Given the description of an element on the screen output the (x, y) to click on. 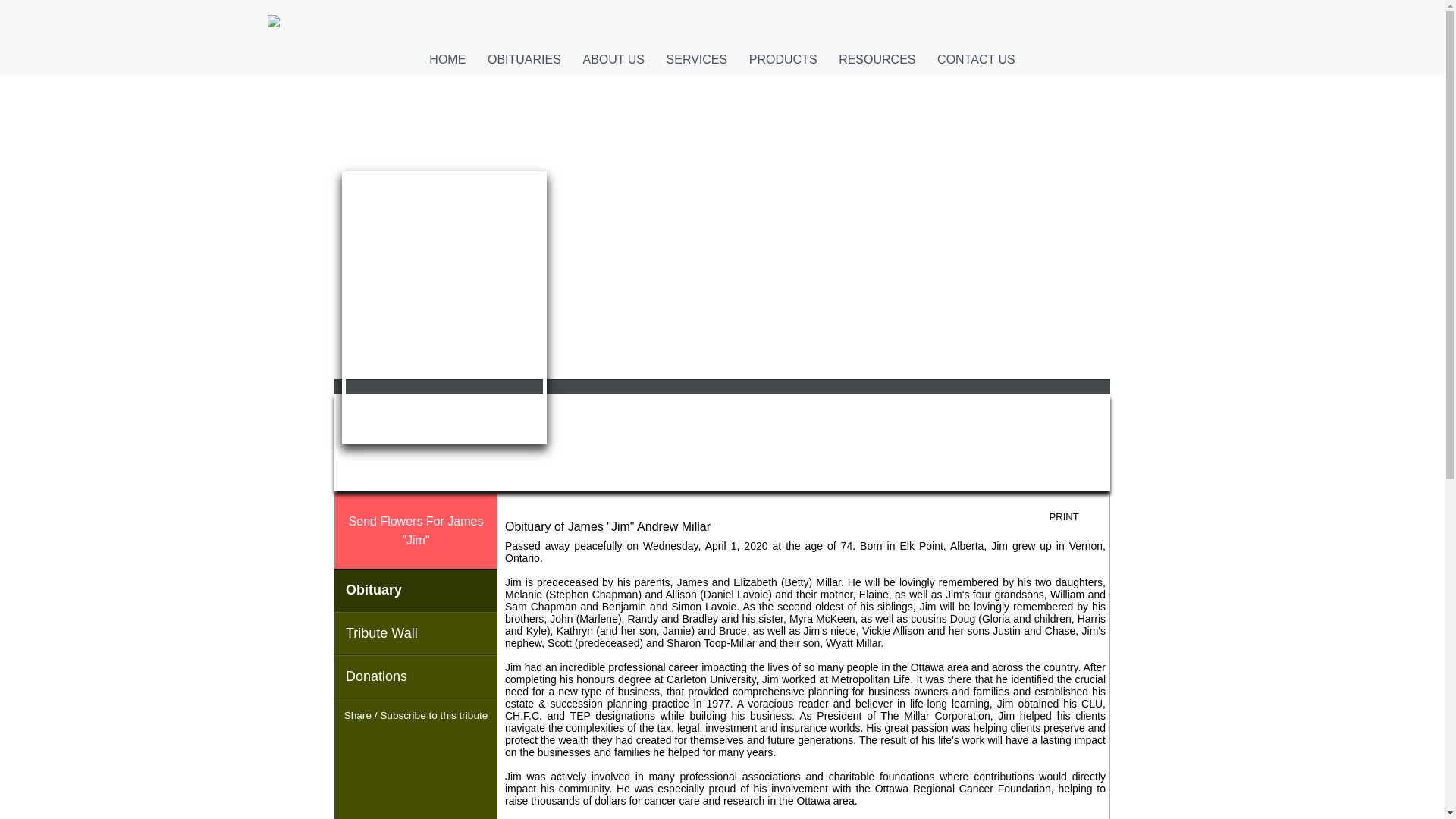
Send Flowers For James "Jim" (415, 530)
CONTACT US (975, 59)
Obituary (415, 589)
Receive Notifications (442, 744)
ABOUT US (612, 59)
OBITUARIES (524, 59)
SERVICES (696, 59)
PRODUCTS (783, 59)
Print (1075, 517)
RESOURCES (876, 59)
Twitter (415, 744)
SIGN IN (1079, 134)
HOME (447, 59)
Facebook (387, 744)
